Given the description of an element on the screen output the (x, y) to click on. 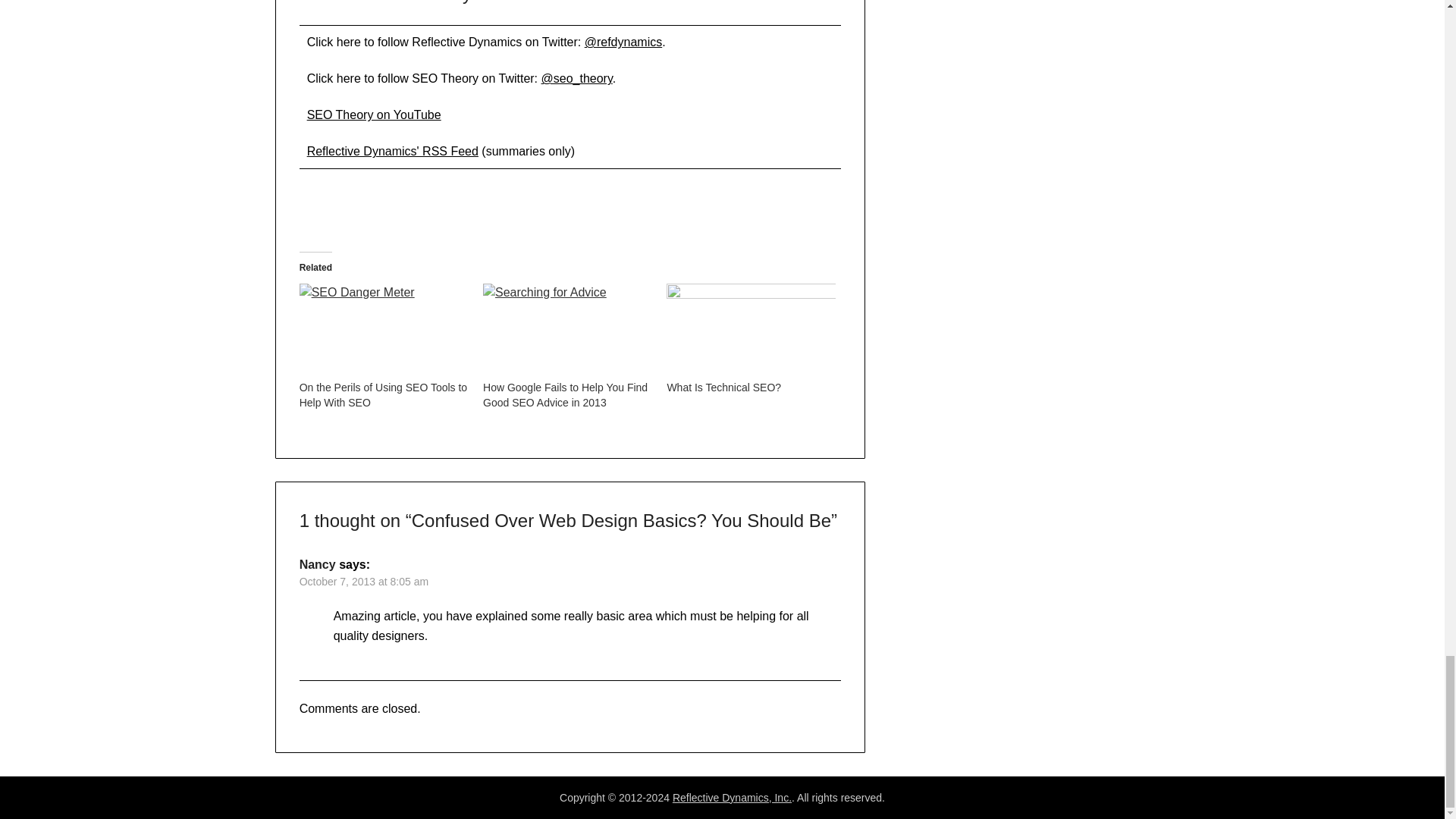
How Google Fails to Help You Find Good SEO Advice in 2013 (565, 394)
October 7, 2013 at 8:05 am (363, 581)
On the Perils of Using SEO Tools to Help With SEO (383, 394)
Nancy (317, 563)
What Is Technical SEO? (750, 331)
On the Perils of Using SEO Tools to Help With SEO (383, 331)
How Google Fails to Help You Find Good SEO Advice in 2013 (565, 394)
Reflective Dynamics' RSS Feed (393, 151)
What Is Technical SEO? (723, 387)
What Is Technical SEO? (723, 387)
